Given the description of an element on the screen output the (x, y) to click on. 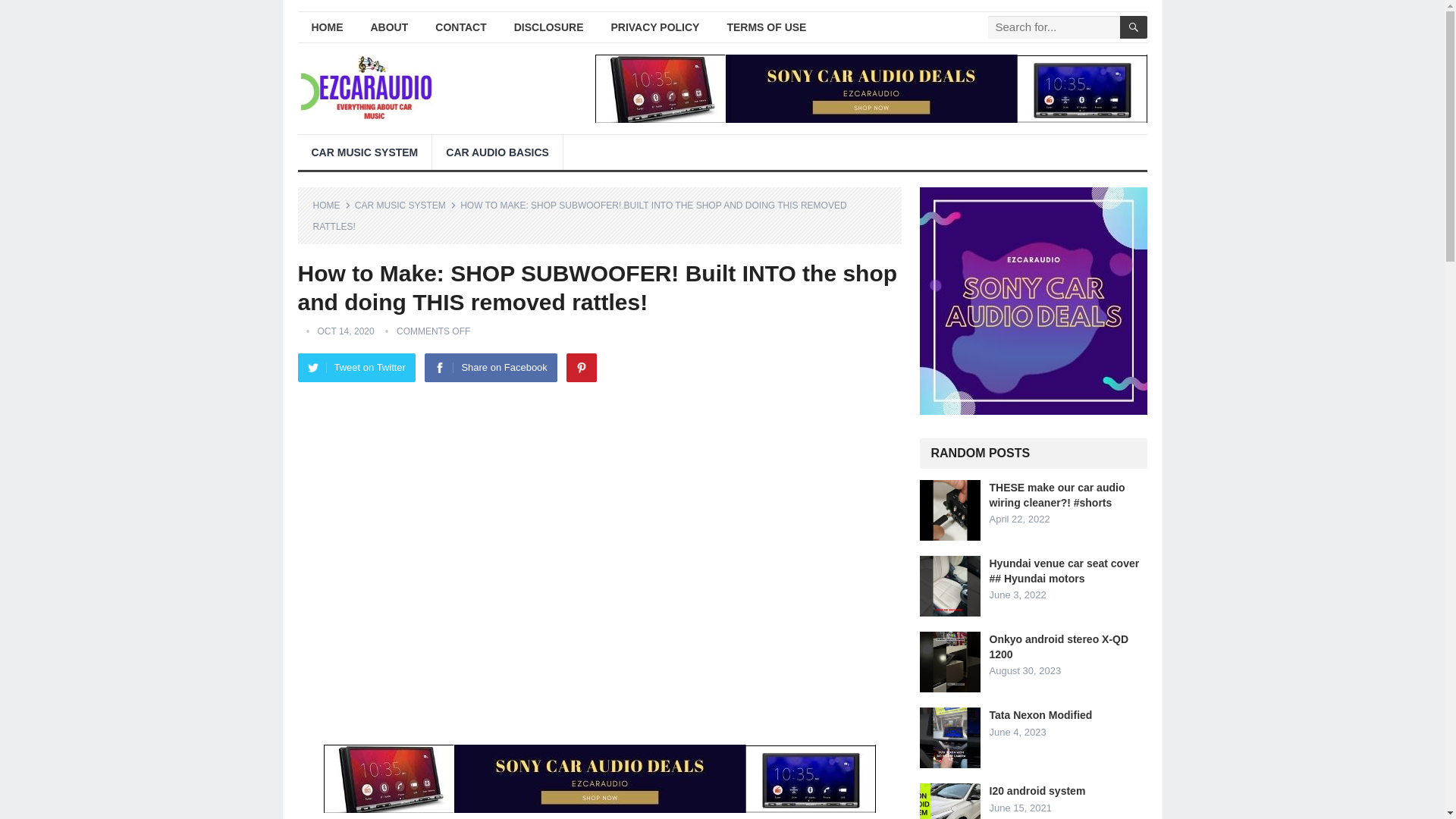
CAR AUDIO BASICS (497, 152)
ABOUT (389, 27)
HOME (331, 204)
CAR MUSIC SYSTEM (406, 204)
HOME (326, 27)
PRIVACY POLICY (654, 27)
CONTACT (460, 27)
Onkyo android stereo X-QD 1200 15 (948, 661)
Share on Facebook (490, 367)
